Given the description of an element on the screen output the (x, y) to click on. 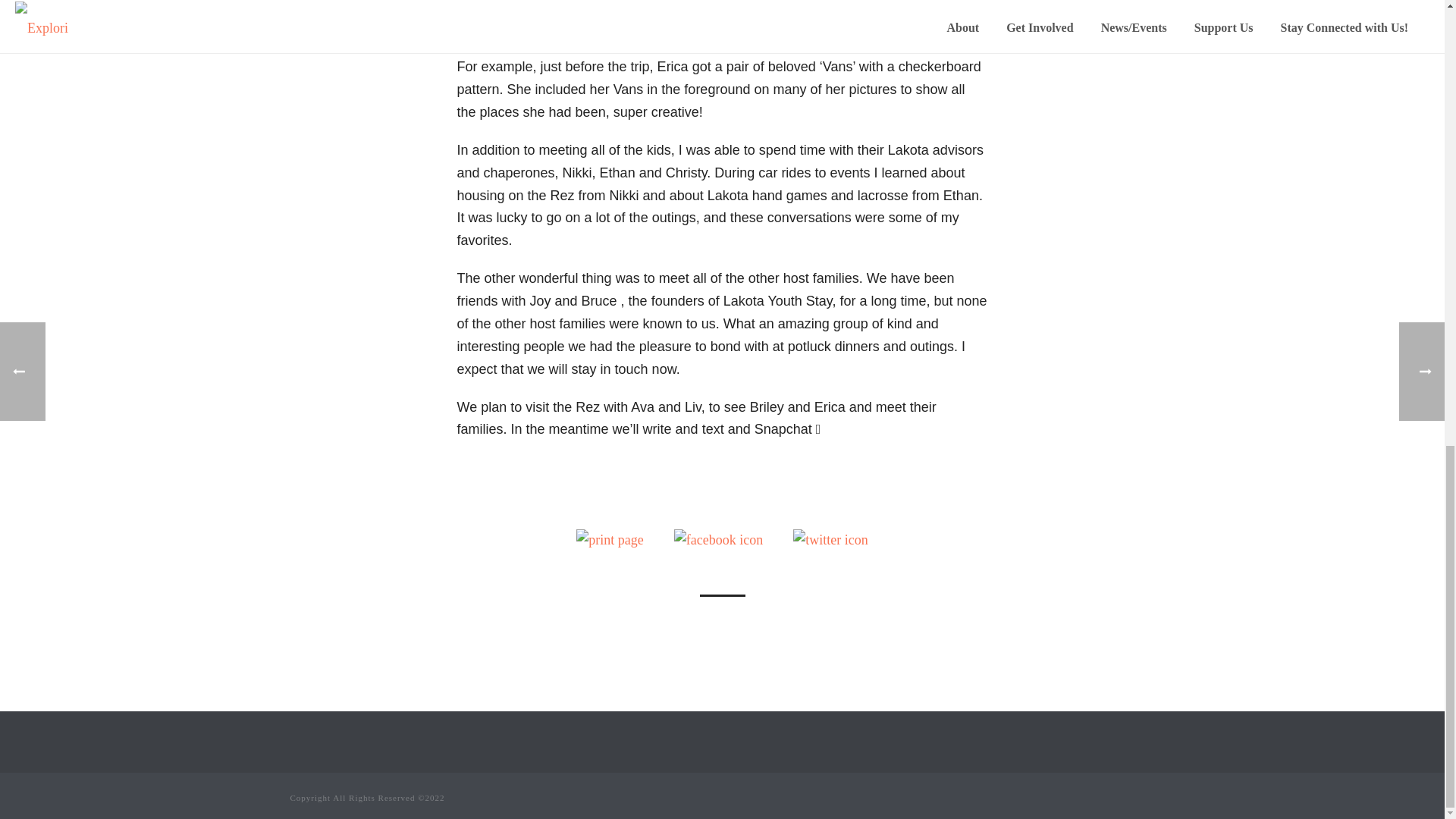
Print (609, 539)
